Given the description of an element on the screen output the (x, y) to click on. 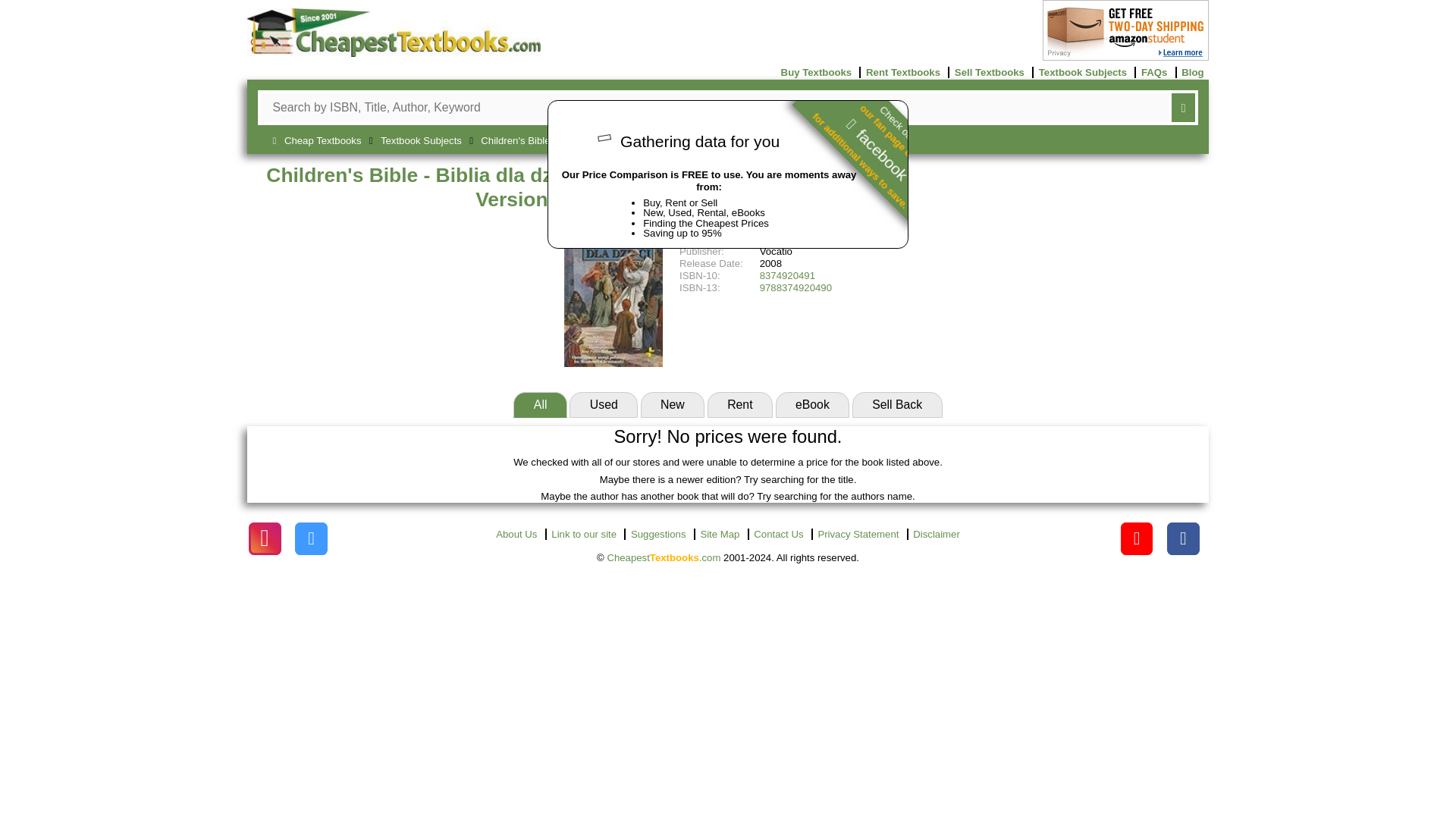
8374920491 (787, 275)
Find out about free shipping with 'Amazon Student' (1125, 57)
Disclaimer (936, 533)
Check out Cheapest Textbooks on Instagram. (311, 538)
FAQs (1153, 71)
Textbook Subjects (1082, 71)
Check out these Frequently Asked Questions. (1153, 71)
